Given the description of an element on the screen output the (x, y) to click on. 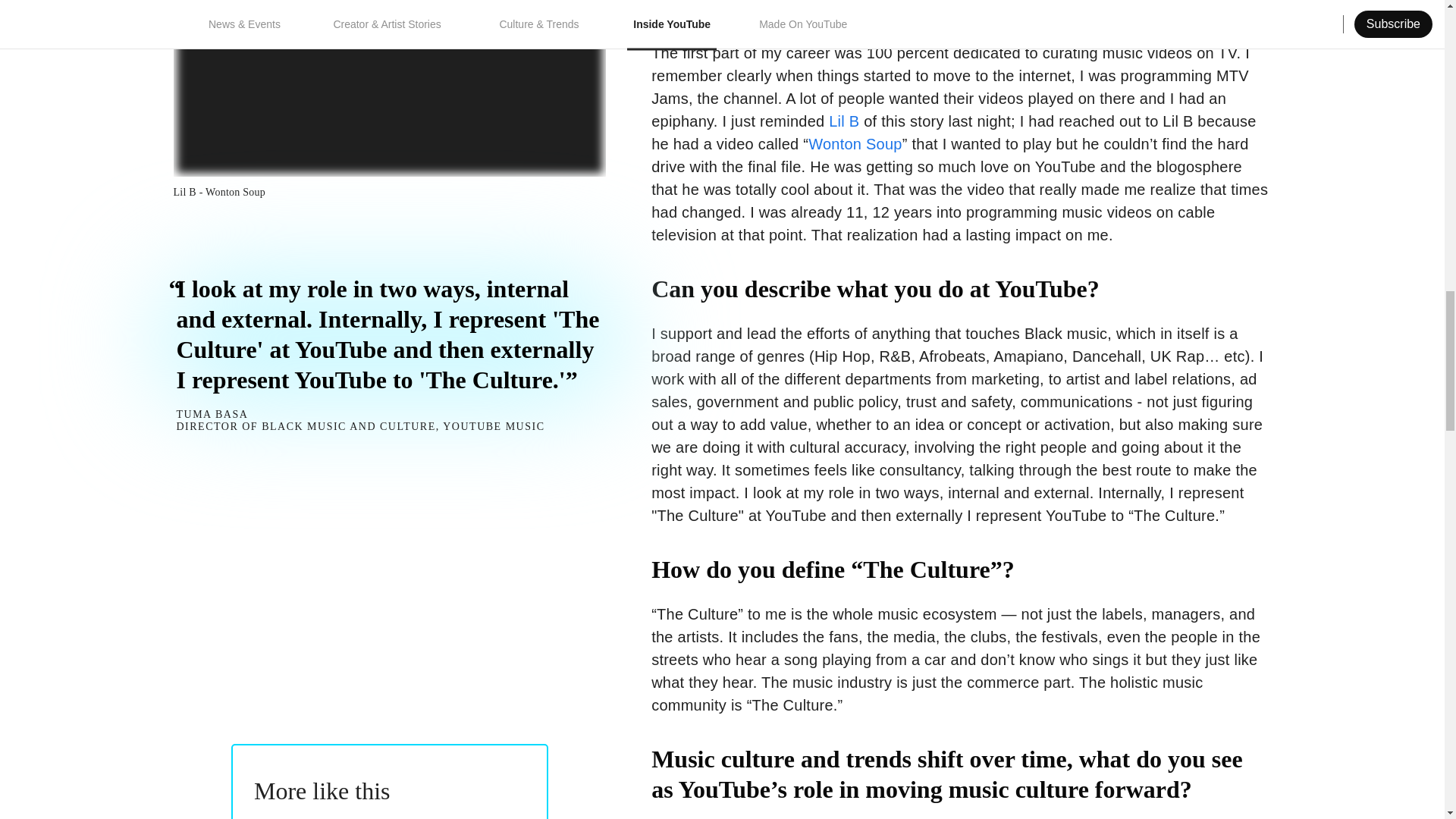
Wonton Soup (855, 143)
Lil B (843, 121)
